Given the description of an element on the screen output the (x, y) to click on. 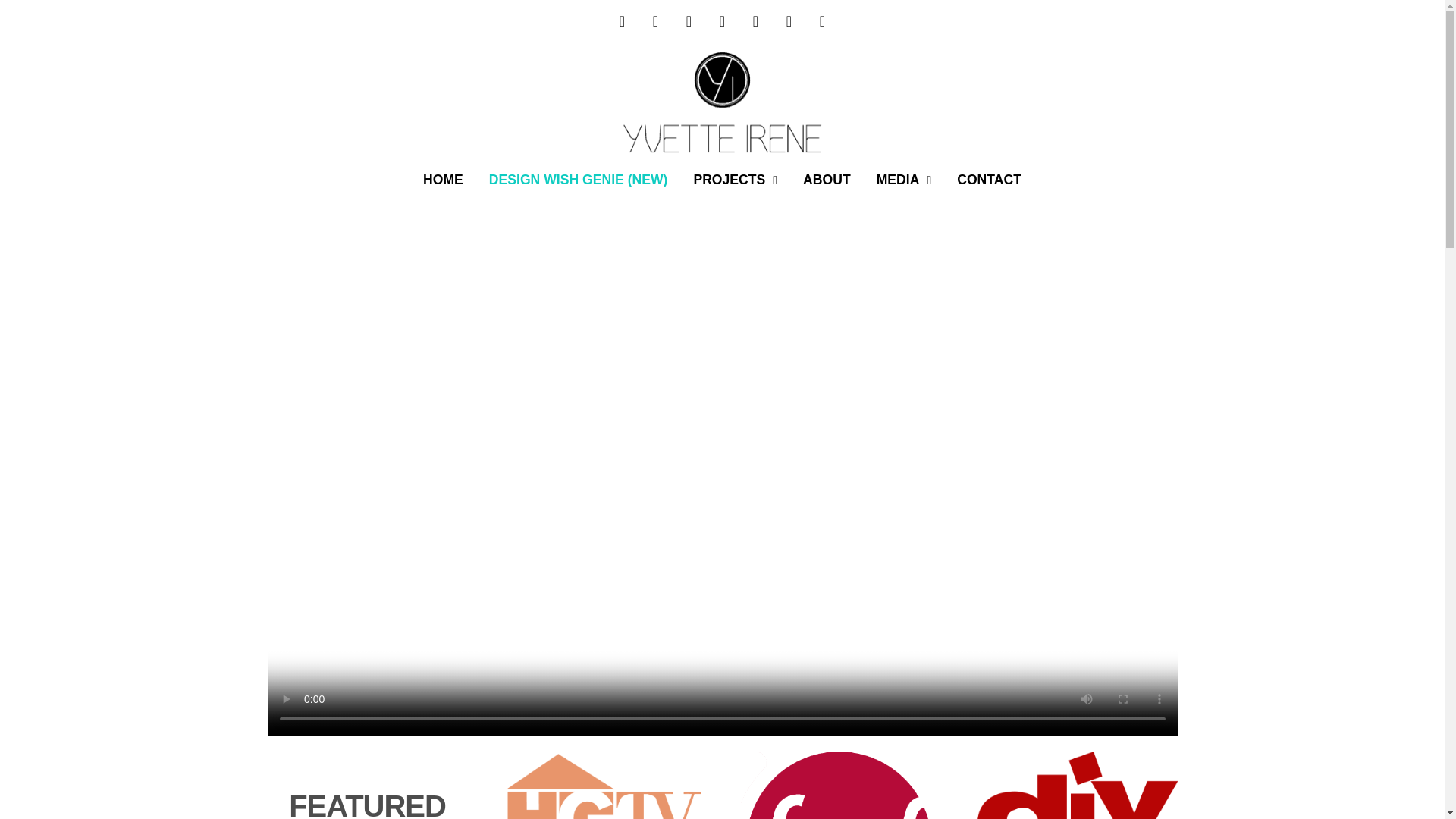
MEDIA (903, 180)
ABOUT (826, 180)
PROJECTS (734, 180)
HOME (443, 180)
CONTACT (988, 180)
